Given the description of an element on the screen output the (x, y) to click on. 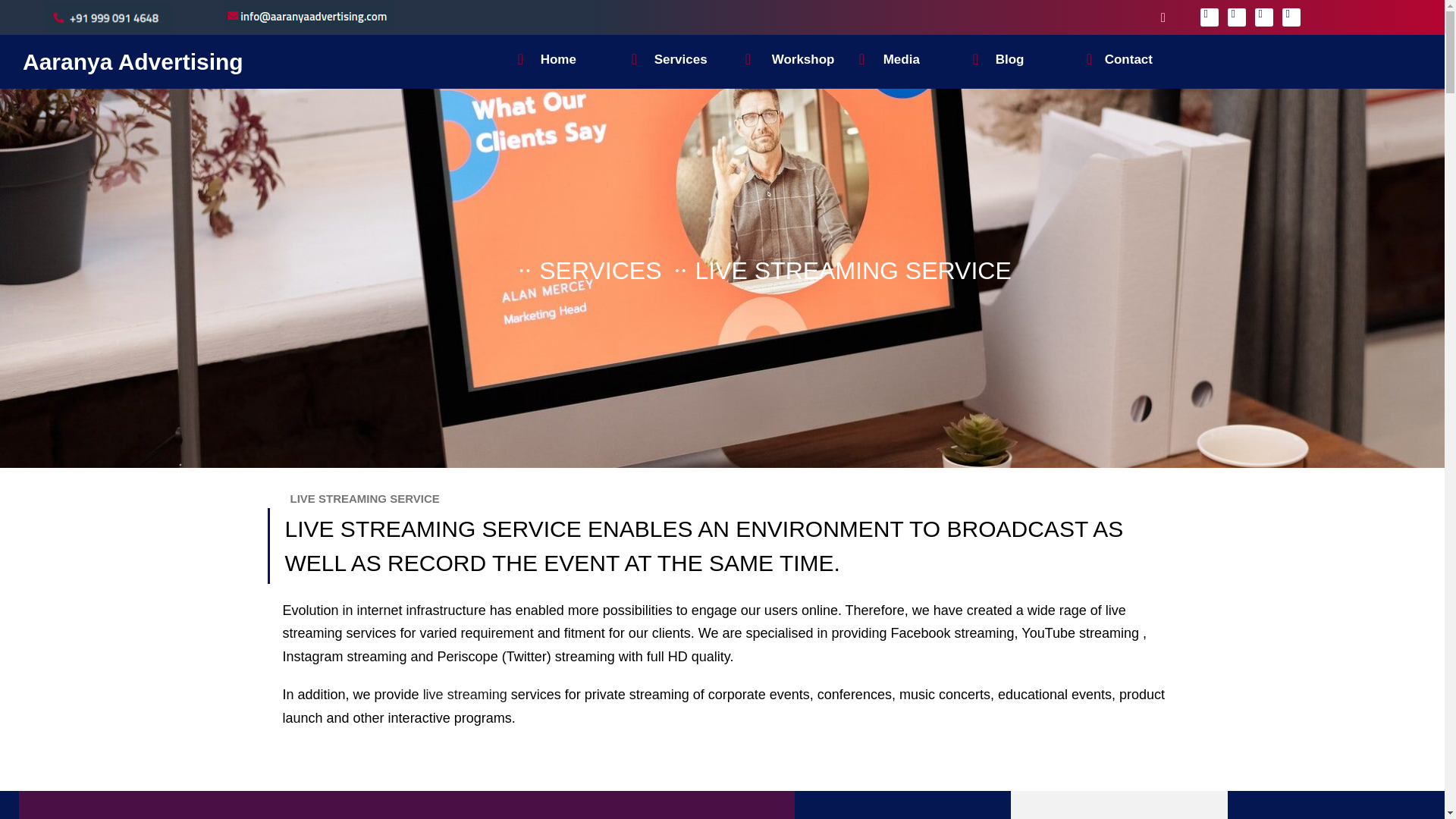
Aaranya Advertising (133, 60)
Company Profile (631, 100)
Gallery (971, 100)
Workshop (858, 100)
